Given the description of an element on the screen output the (x, y) to click on. 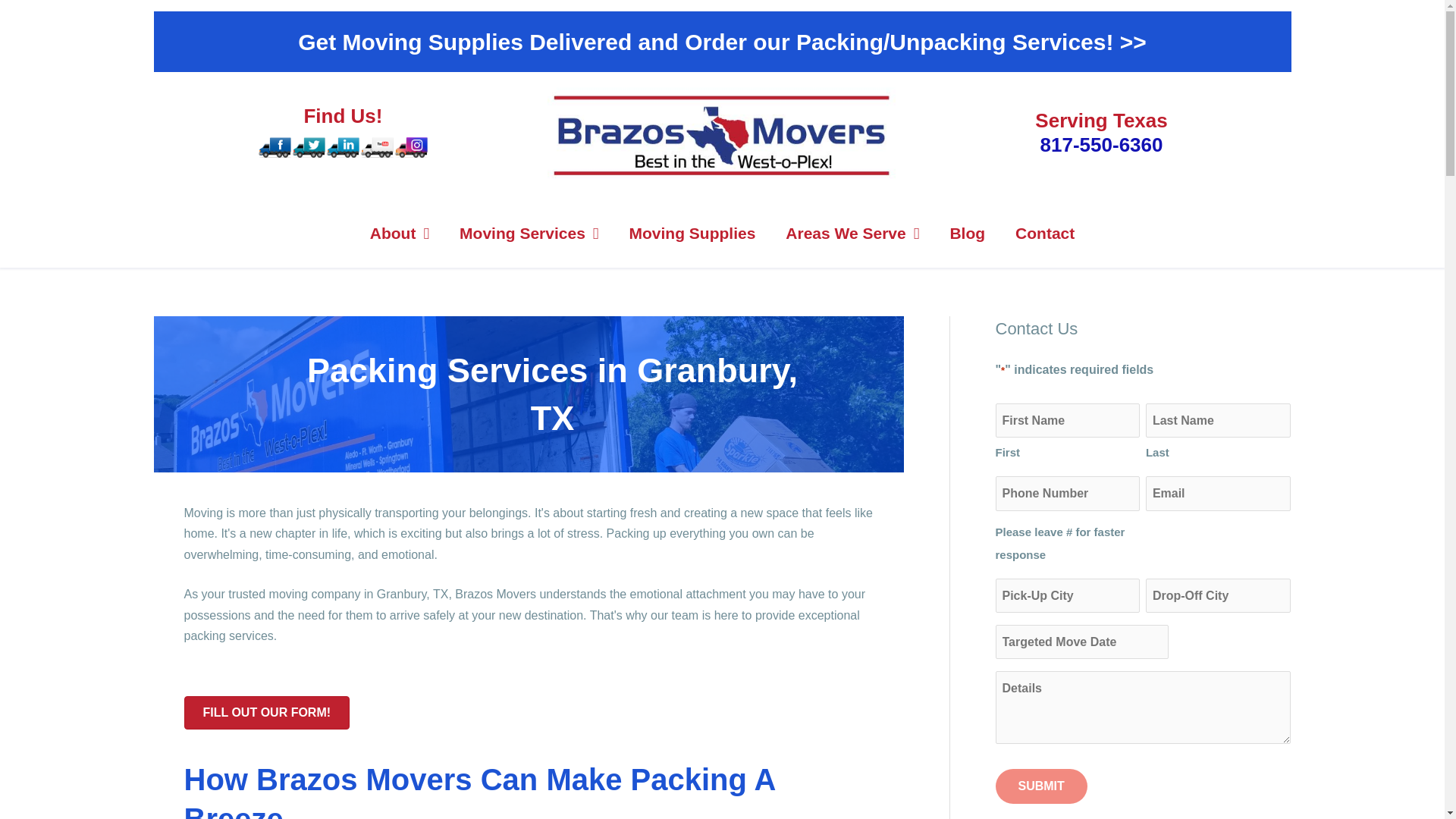
FILL OUT OUR FORM! (266, 712)
facebook (274, 147)
Submit (1040, 786)
817-550-6360 (1102, 144)
Brazos-Logo-Final-long (721, 134)
youtube (376, 147)
Areas We Serve (851, 232)
Instagram (411, 146)
Instagram (411, 147)
Blog (967, 232)
linkedin (342, 147)
Contact (1044, 232)
Moving Supplies (691, 232)
Moving Services (528, 232)
About (399, 232)
